Given the description of an element on the screen output the (x, y) to click on. 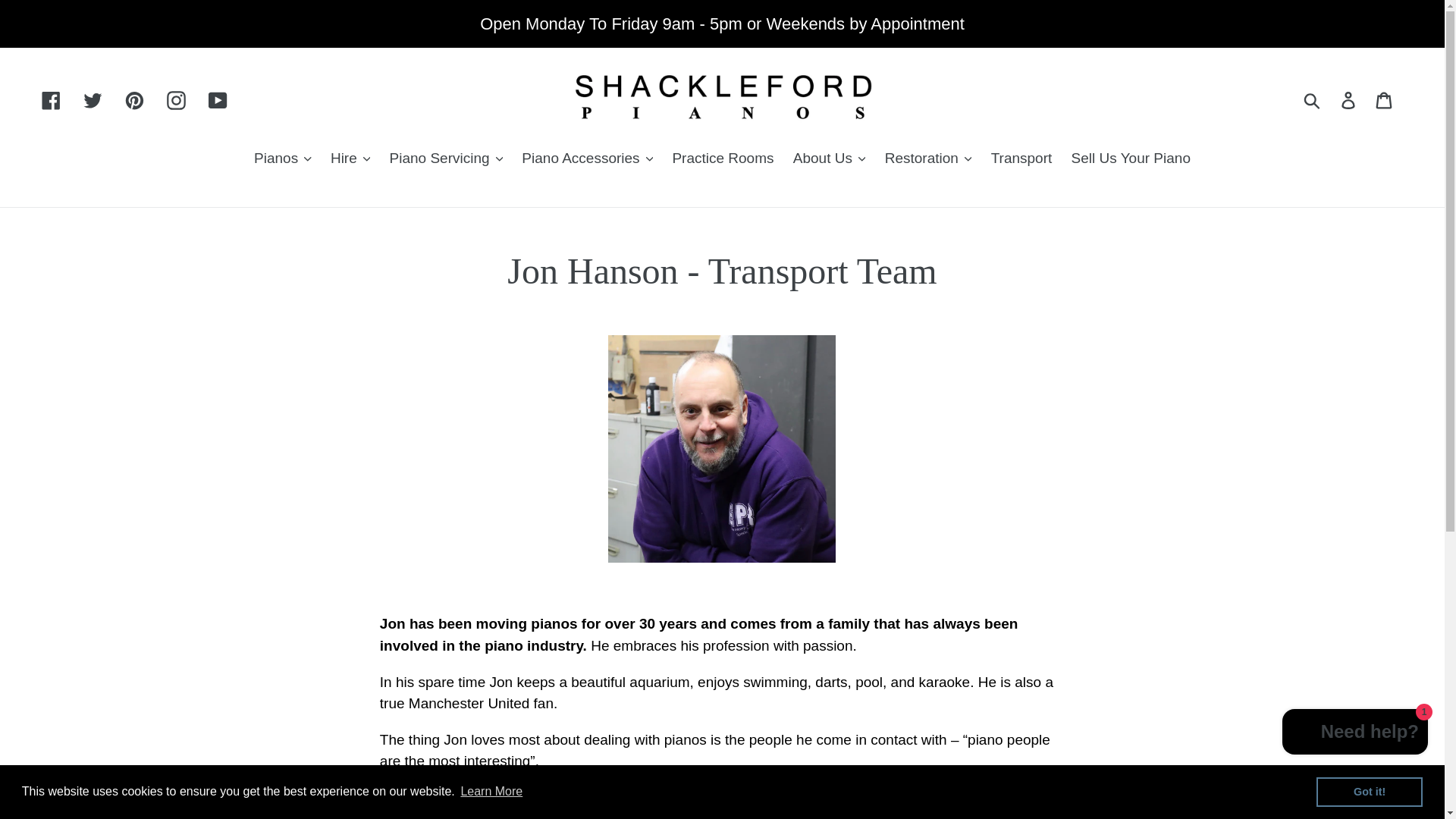
Got it! (1369, 791)
Shopify online store chat (1355, 733)
Log in (1349, 99)
Cart (1385, 99)
Learn More (491, 791)
Submit (1313, 99)
